Given the description of an element on the screen output the (x, y) to click on. 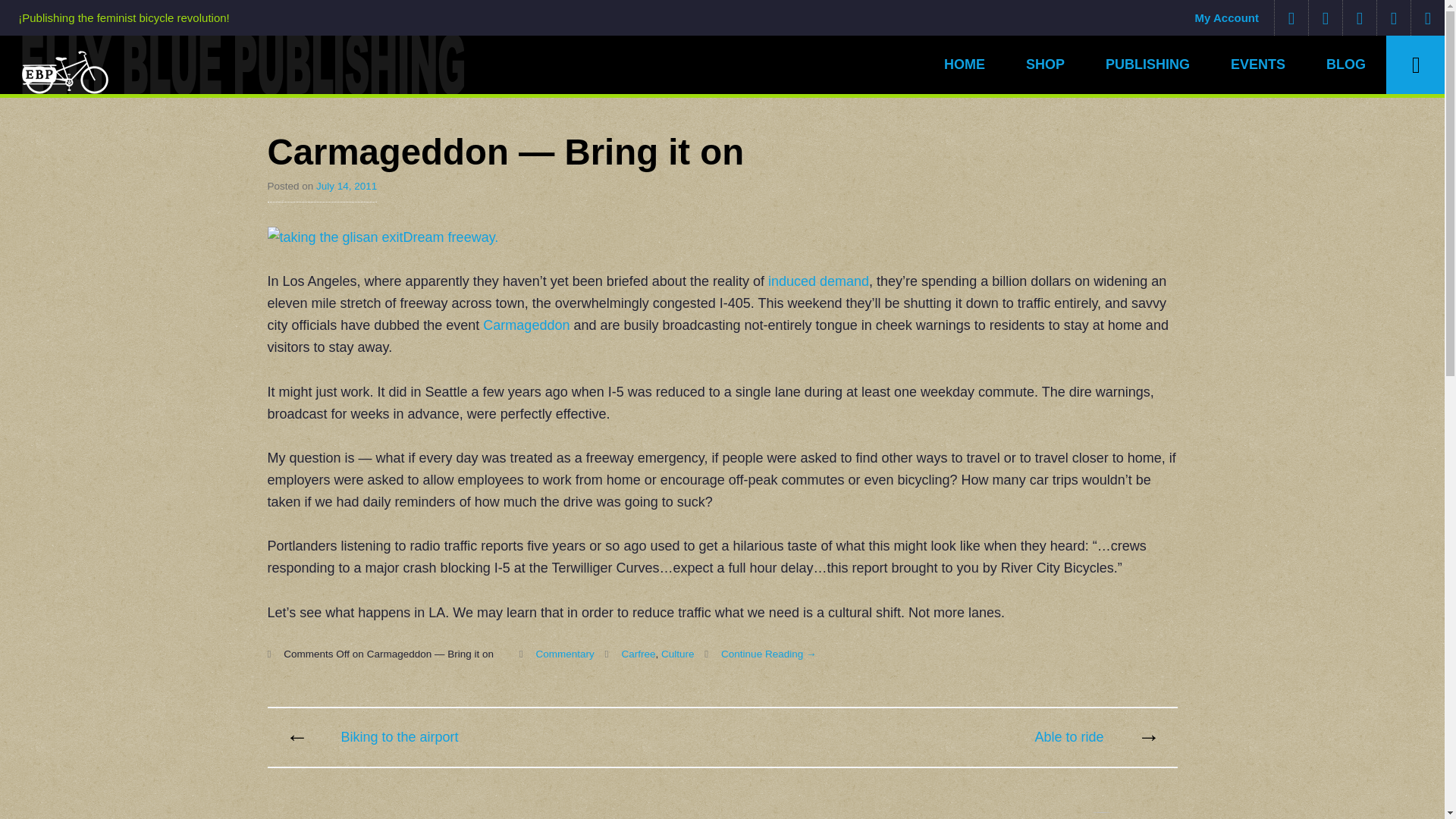
my account (1227, 17)
induced demand (818, 281)
My Account (1227, 17)
facebook (1358, 18)
Dream freeway. (381, 237)
twitter (1324, 18)
SHOP (1045, 65)
Contact Us (1290, 18)
July 14, 2011 (346, 185)
taking the glisan exit by Elly Blue, on Flickr (381, 237)
BLOG (1346, 65)
PUBLISHING (1146, 65)
EVENTS (1257, 65)
contact us (1290, 18)
HOME (964, 65)
